Given the description of an element on the screen output the (x, y) to click on. 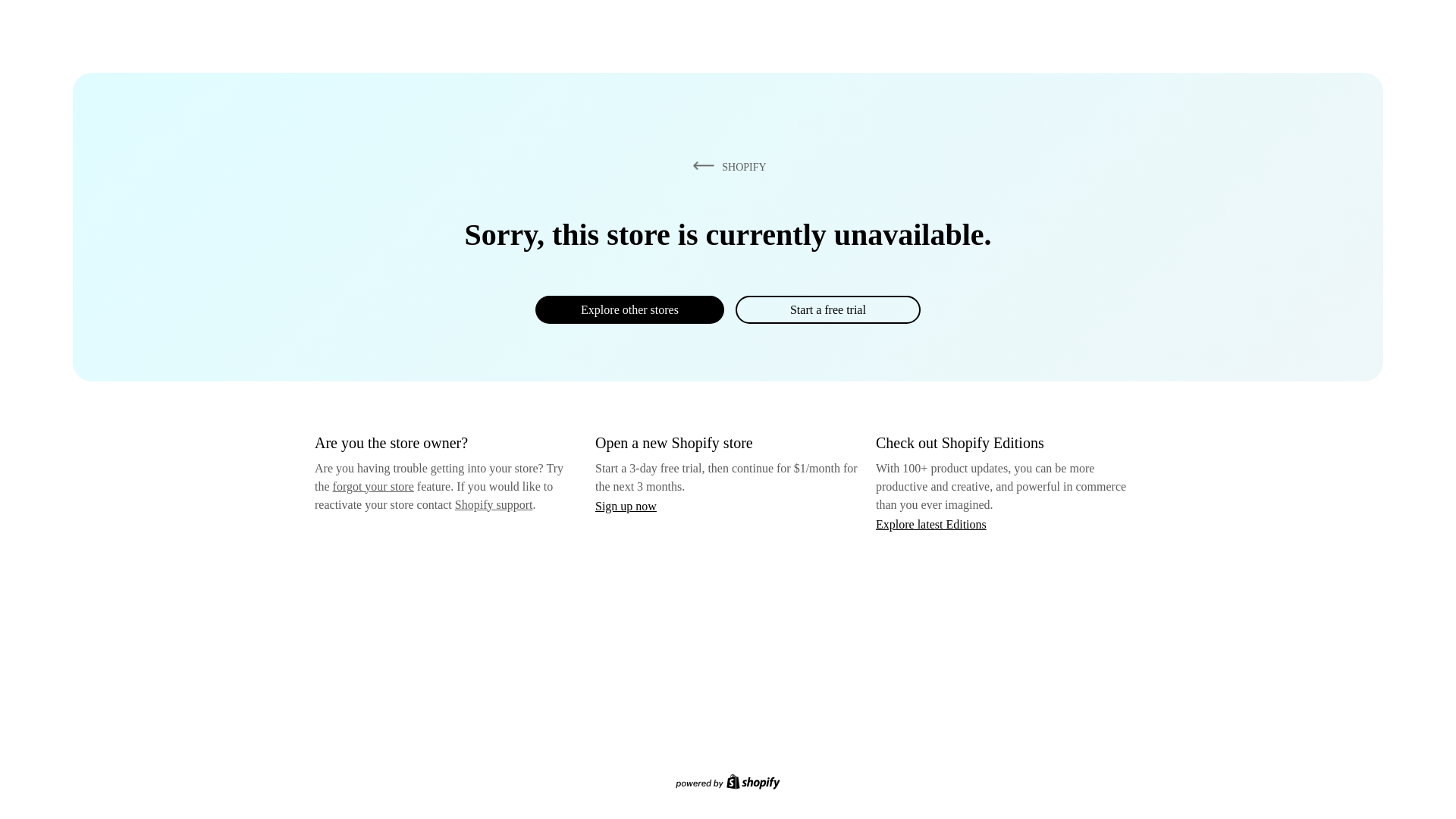
Explore other stores (629, 309)
Start a free trial (827, 309)
Sign up now (625, 505)
Explore latest Editions (931, 523)
SHOPIFY (726, 166)
Shopify support (493, 504)
forgot your store (373, 486)
